Given the description of an element on the screen output the (x, y) to click on. 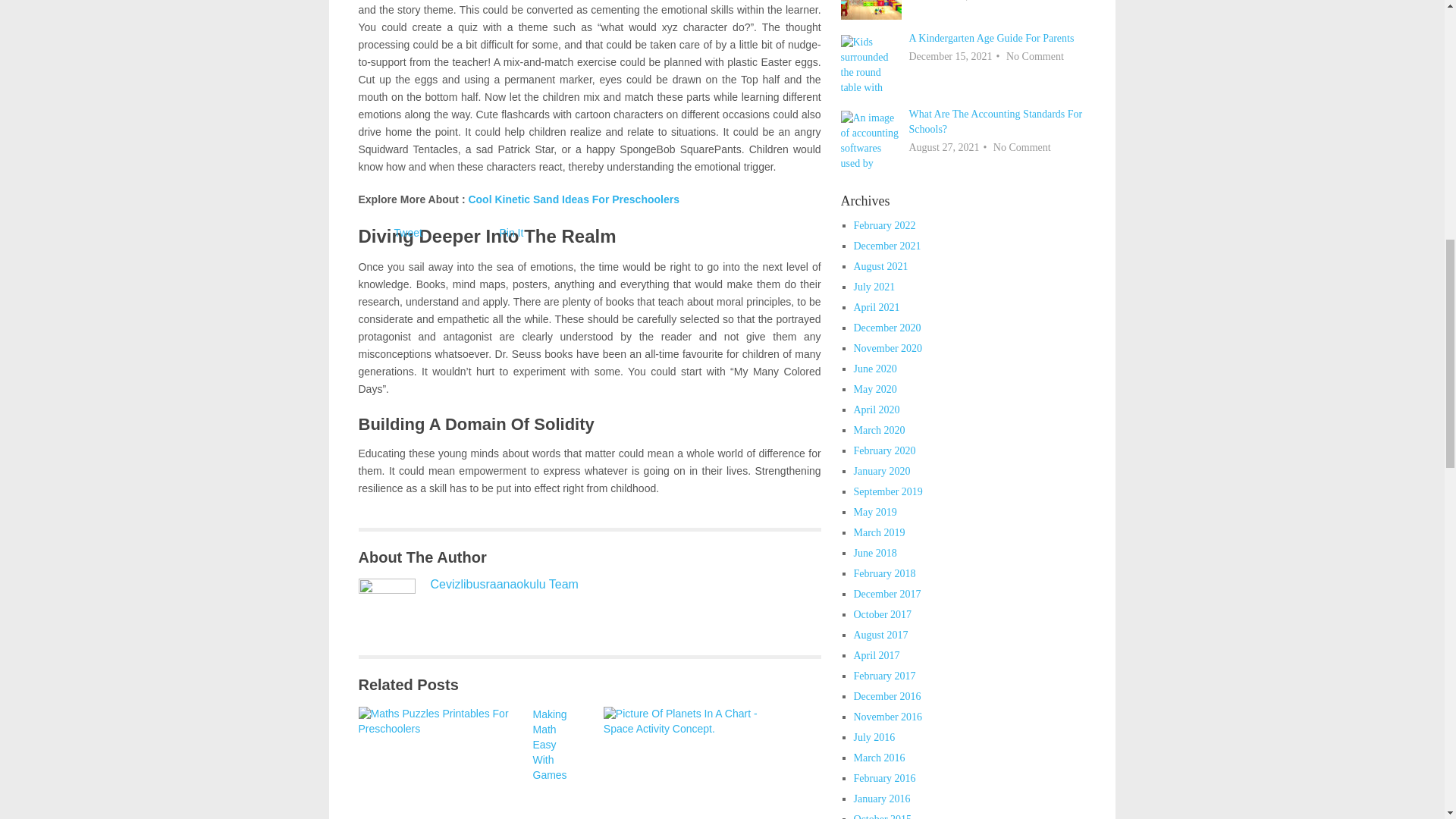
0 (441, 762)
Stimulating Space Theme Activities For Preschoolers (687, 762)
0 (687, 762)
Making Math Easy With Games (441, 762)
Cevizlibusraanaokulu Team (504, 584)
Cool Kinetic Sand Ideas For Preschoolers (573, 199)
